Given the description of an element on the screen output the (x, y) to click on. 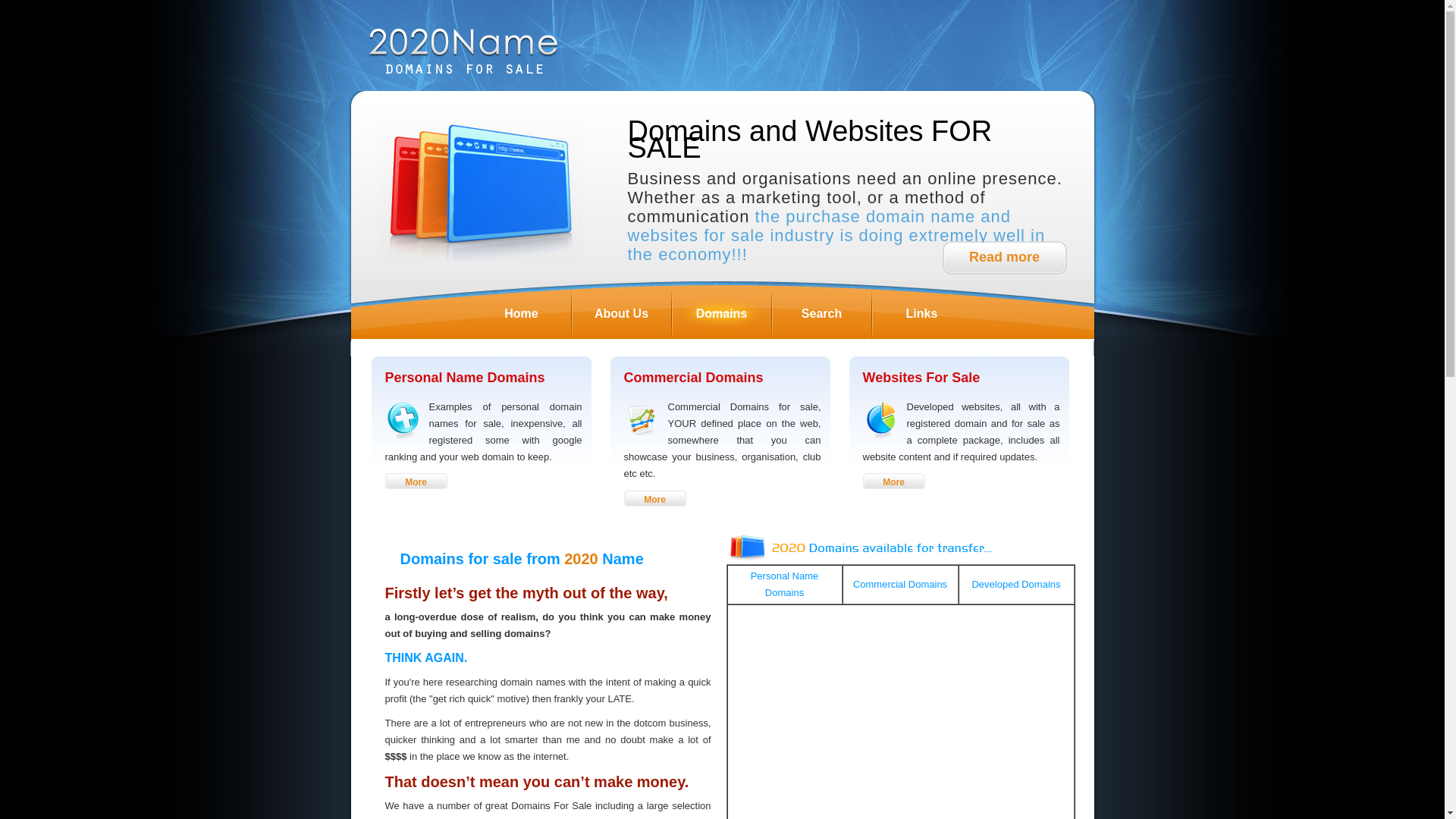
Domains Element type: text (720, 312)
Read more Element type: text (1003, 257)
More Element type: text (893, 481)
Search Element type: text (820, 312)
Home Element type: text (520, 312)
More Element type: text (654, 498)
Personal Name Domains Element type: text (784, 584)
About Us Element type: text (620, 312)
More Element type: text (416, 481)
Links Element type: text (921, 312)
Commercial Domains Element type: text (900, 583)
Developed Domains Element type: text (1015, 583)
